Given the description of an element on the screen output the (x, y) to click on. 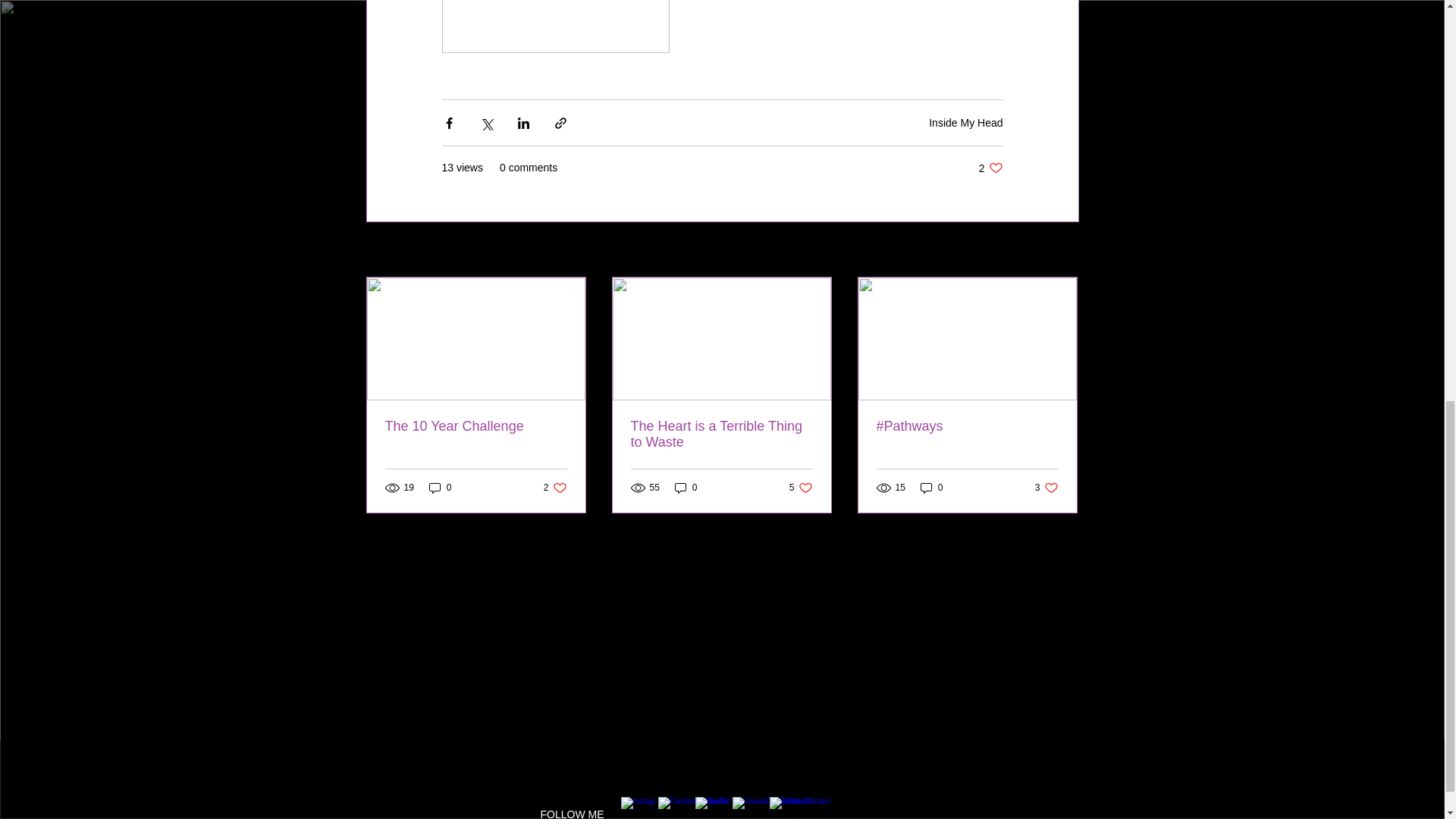
0 (440, 487)
0 (685, 487)
The Heart is a Terrible Thing to Waste (721, 434)
See All (800, 487)
Inside My Head (990, 167)
The 10 Year Challenge (1061, 250)
